Given the description of an element on the screen output the (x, y) to click on. 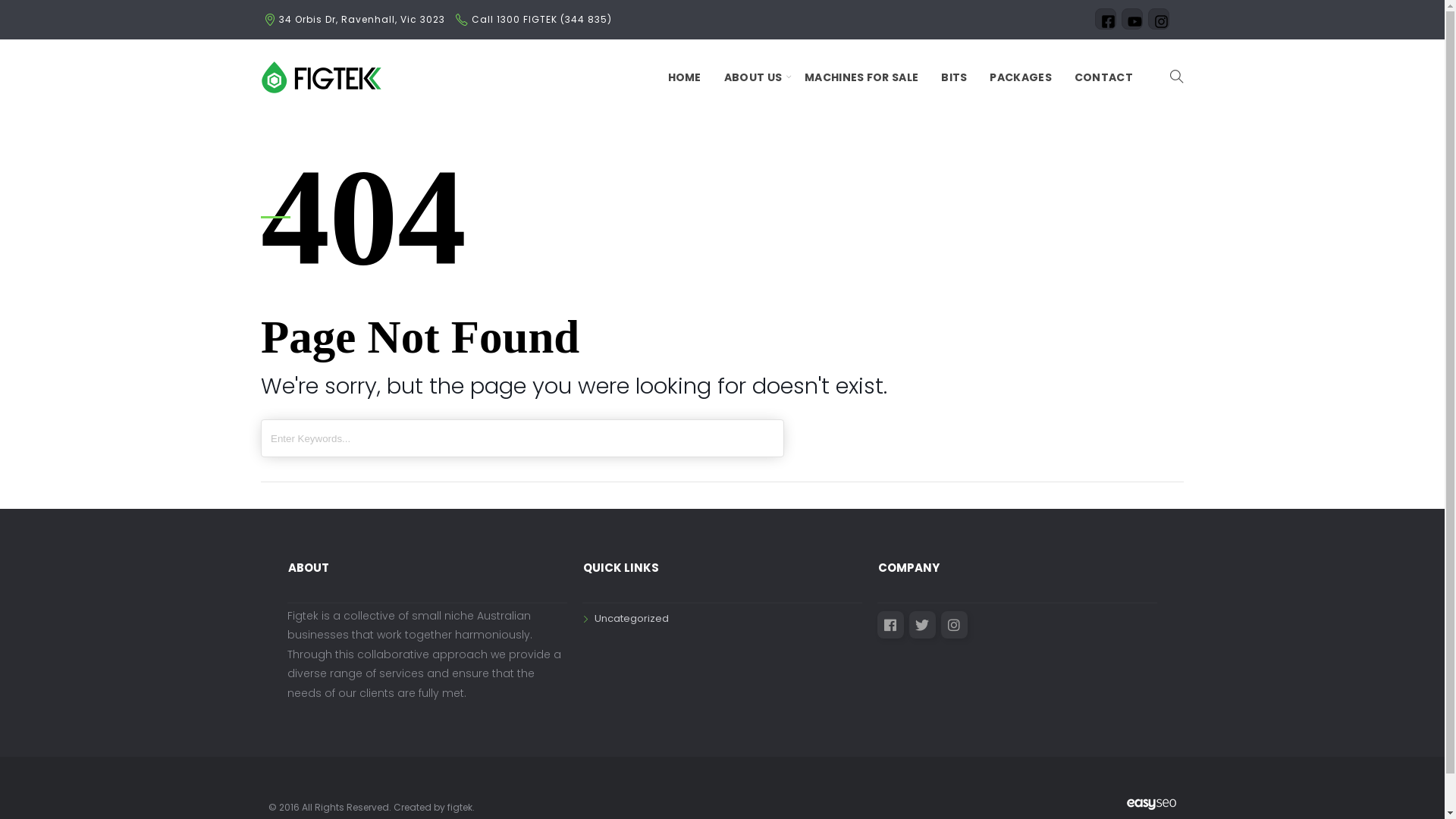
CONTACT Element type: text (1103, 77)
Uncategorized Element type: text (625, 618)
ABOUT US Element type: text (752, 77)
PACKAGES Element type: text (1020, 77)
BITS Element type: text (953, 77)
HOME Element type: text (684, 77)
MACHINES FOR SALE Element type: text (861, 77)
Search Element type: text (21, 7)
